Given the description of an element on the screen output the (x, y) to click on. 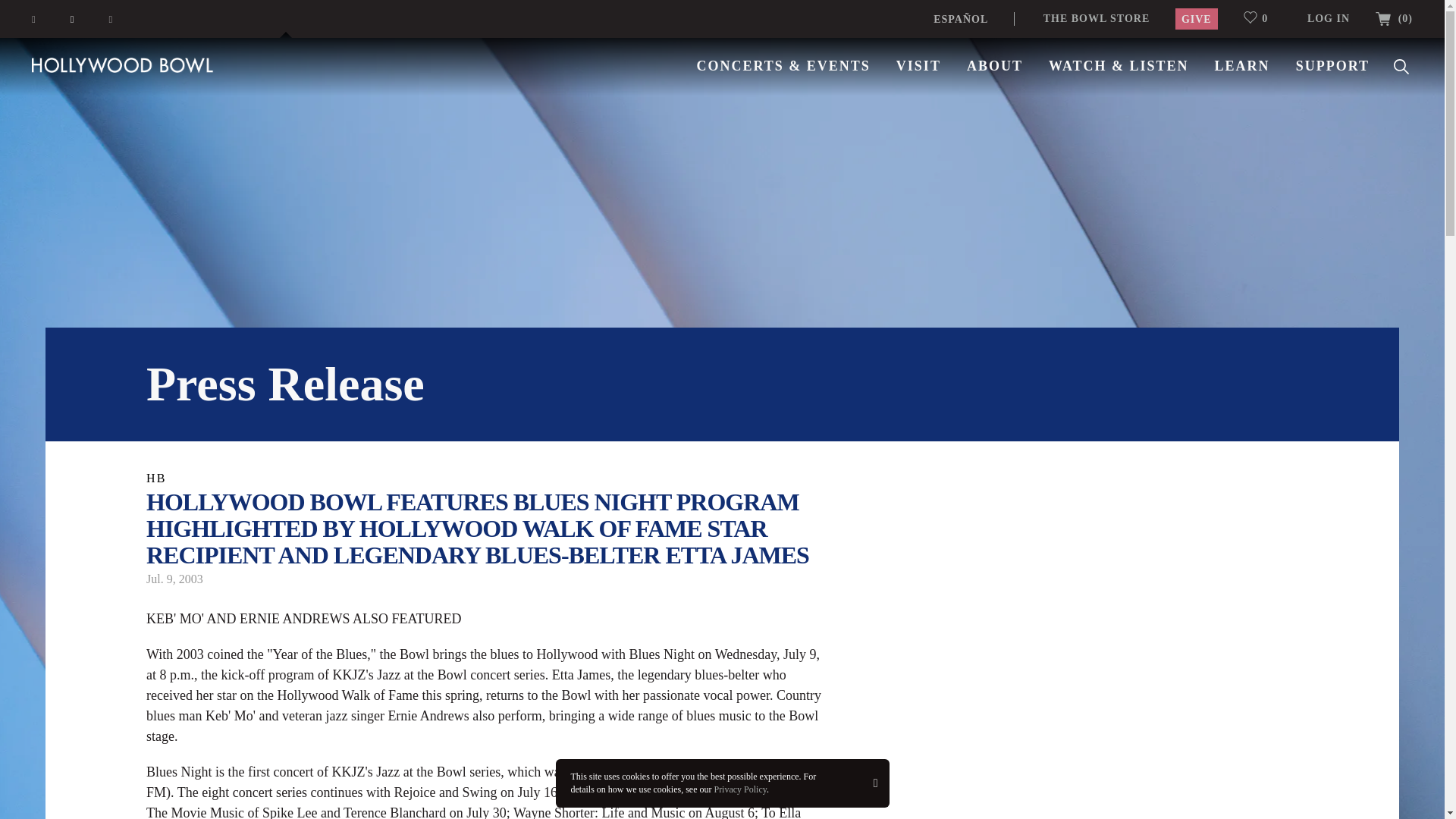
0 (1262, 18)
Homepage (123, 64)
LOG IN (1328, 18)
VISIT (918, 65)
GIVE (1195, 18)
ABOUT (994, 65)
THE BOWL STORE (1096, 18)
